Given the description of an element on the screen output the (x, y) to click on. 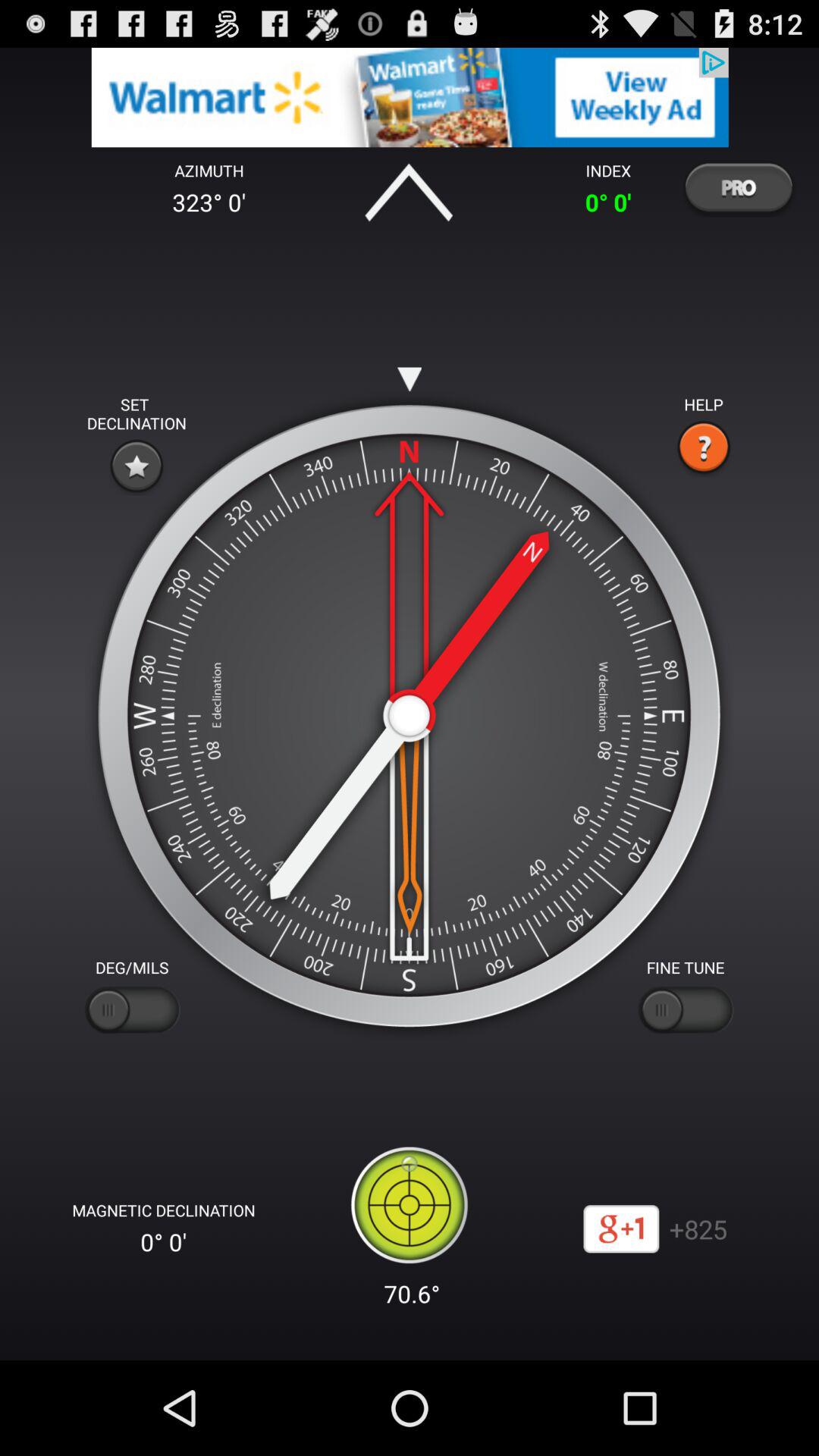
set declination (136, 465)
